Given the description of an element on the screen output the (x, y) to click on. 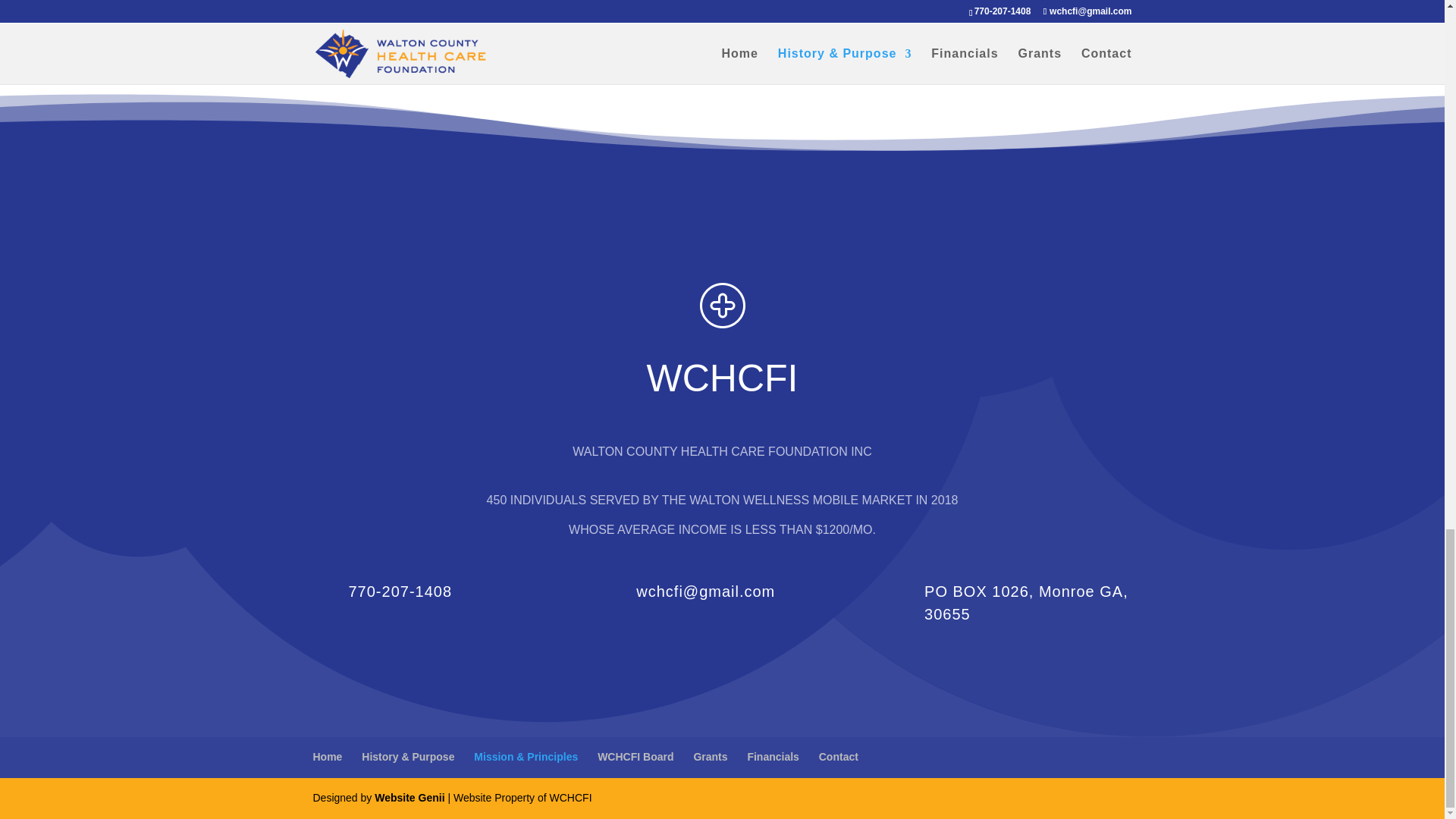
Website Genii (409, 797)
Financials (771, 756)
Website Genii (409, 797)
Home (327, 756)
770-207-1408 (400, 591)
Grants (709, 756)
Contact (838, 756)
WCHCFI Board (634, 756)
